Given the description of an element on the screen output the (x, y) to click on. 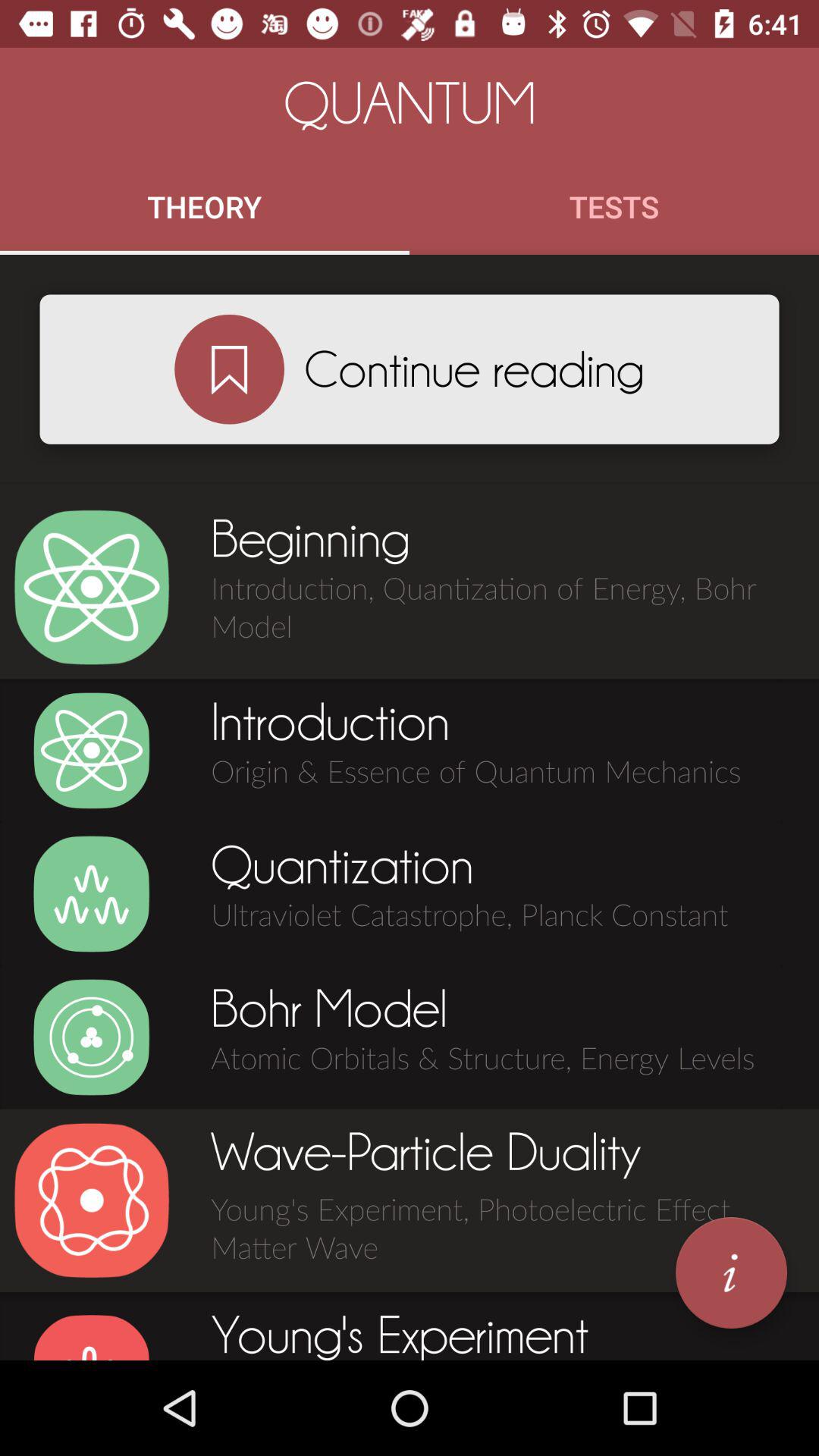
turn on the item below the theory item (229, 369)
